Given the description of an element on the screen output the (x, y) to click on. 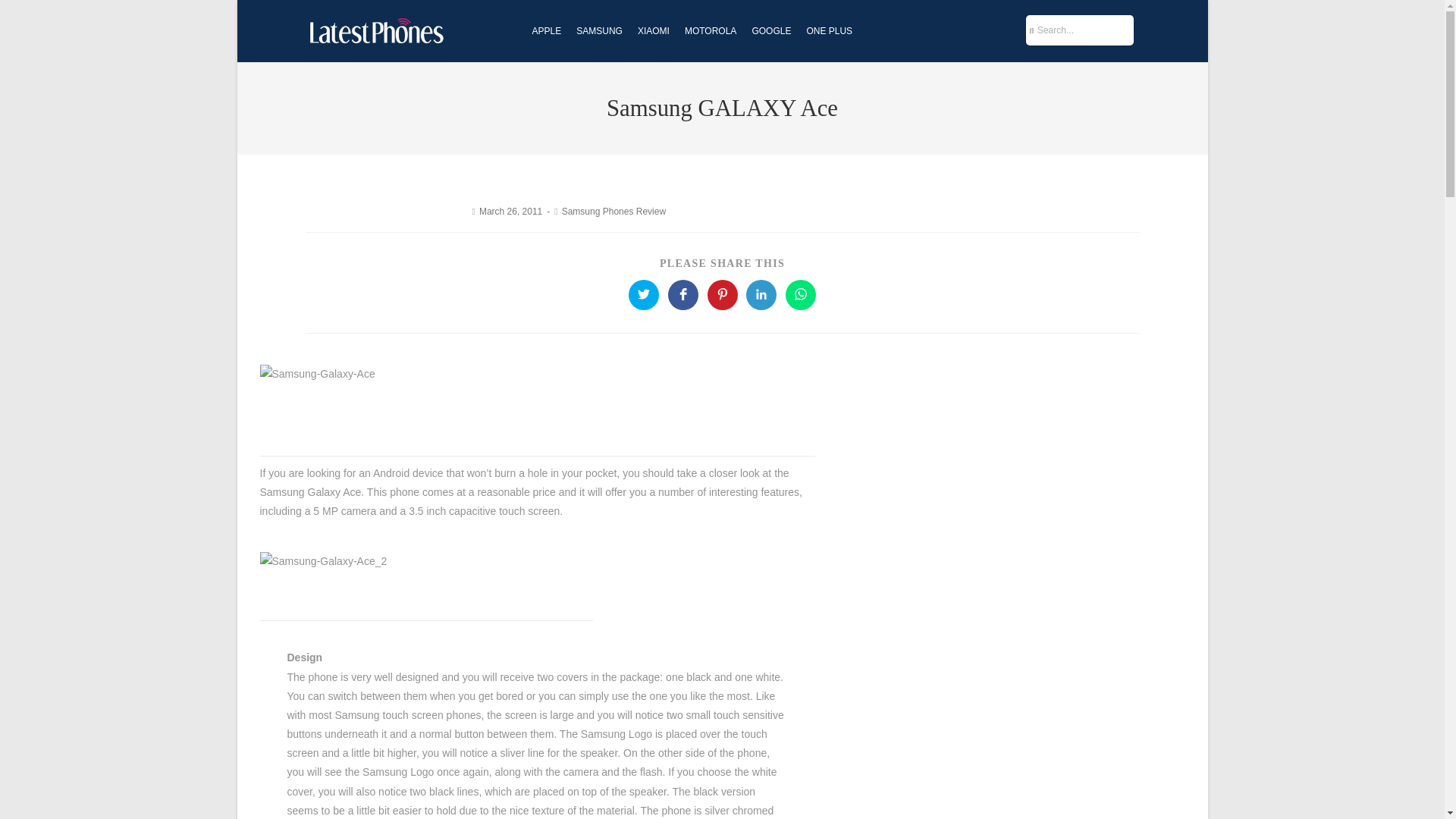
Search (1083, 30)
Share on Facebook (683, 295)
APPLE (546, 30)
Samsung Phones Review (613, 211)
ONE PLUS (828, 30)
Share on Pinterest (721, 295)
GOOGLE (770, 30)
Share on LinkedIn (760, 295)
Share on Twitter (643, 295)
XIAOMI (653, 30)
